Given the description of an element on the screen output the (x, y) to click on. 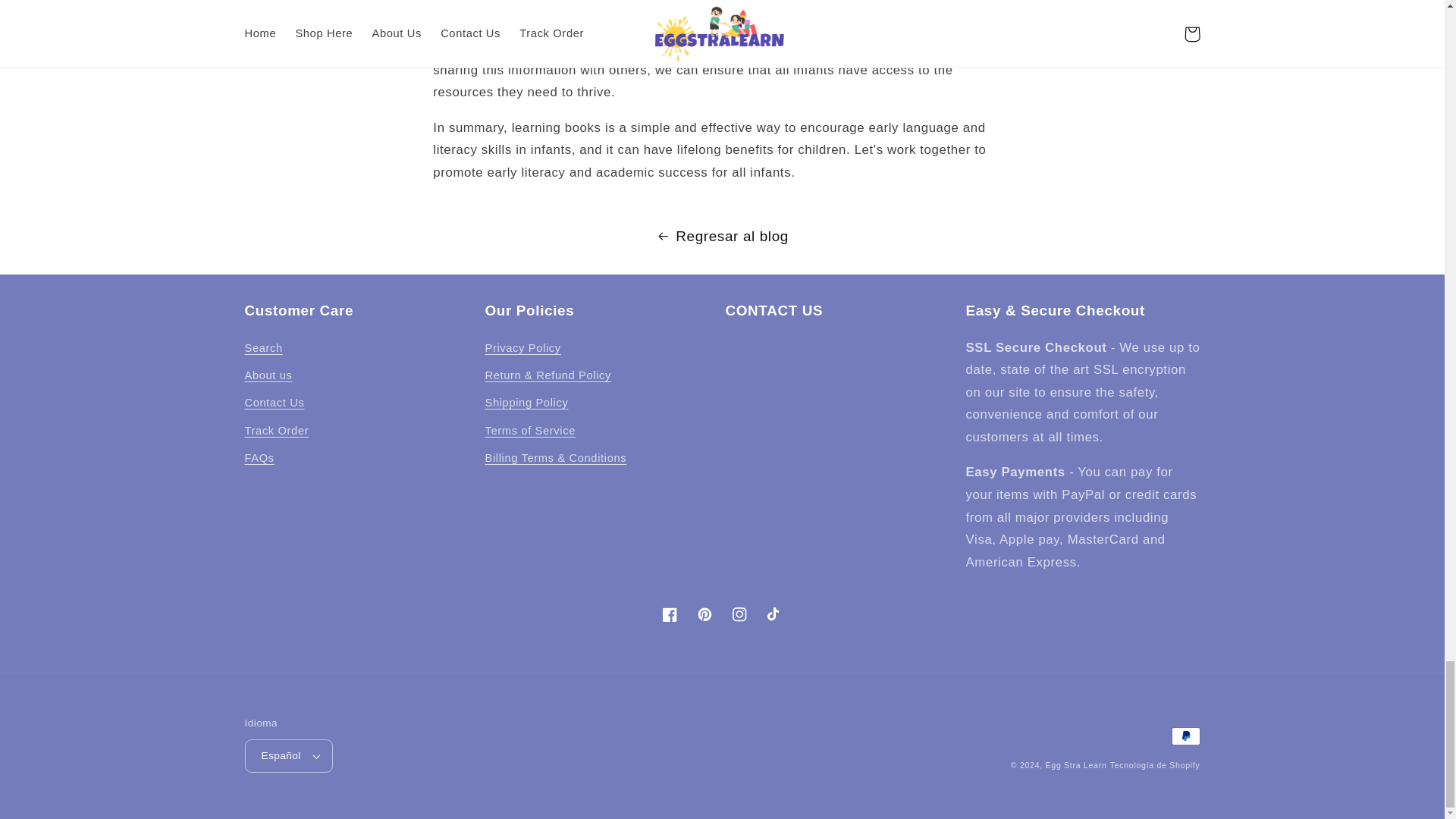
About us (268, 375)
Terms of Service (529, 431)
Pinterest (704, 614)
Search (263, 350)
Track Order (276, 431)
Facebook (669, 614)
Shipping Policy (526, 402)
FAQs (258, 458)
Contact Us (274, 402)
Privacy Policy (522, 350)
